Given the description of an element on the screen output the (x, y) to click on. 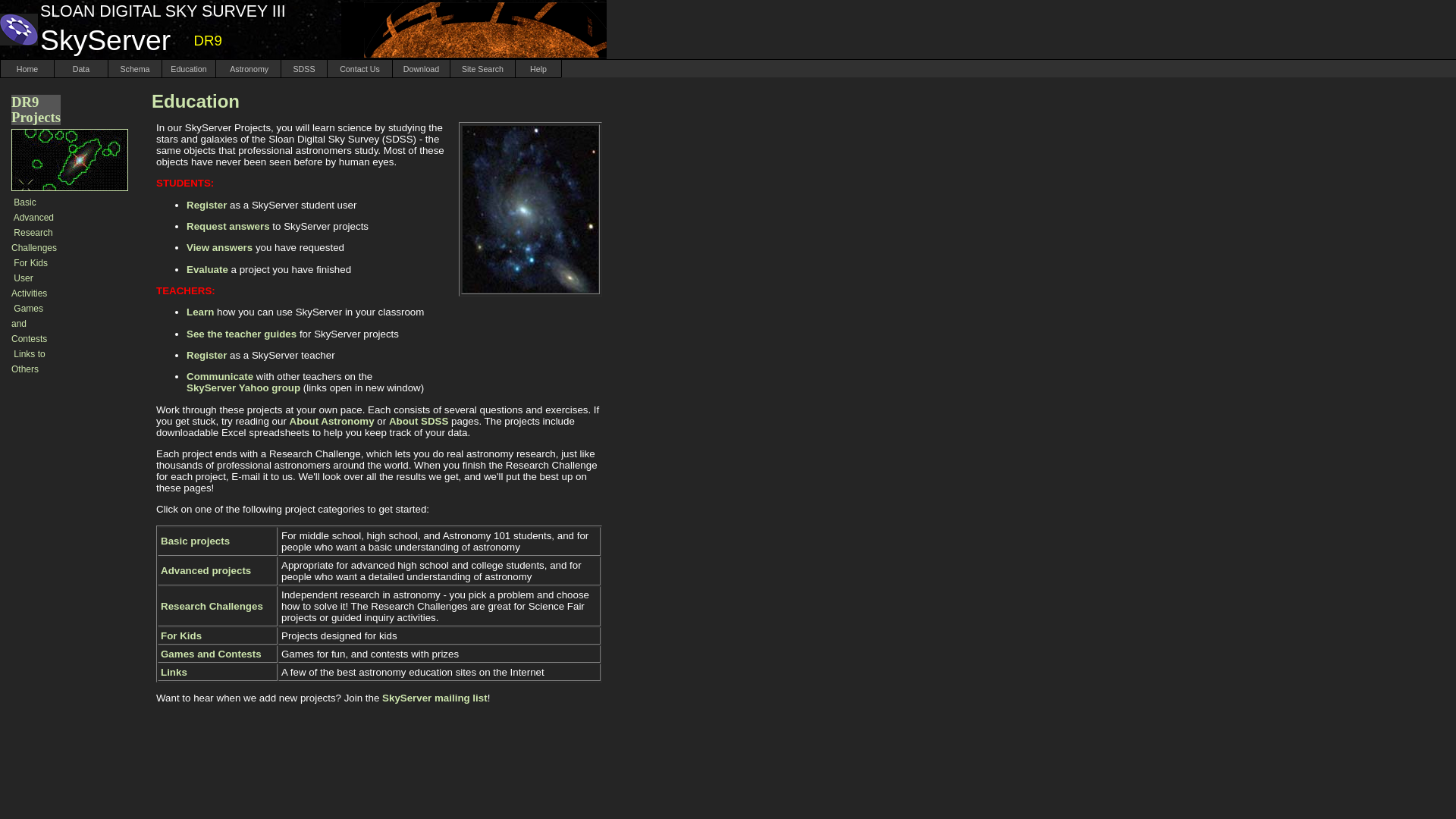
  Help   (538, 67)
 Site Search  (482, 67)
Games and Contests (211, 654)
  Data   (81, 67)
  Education   (188, 67)
  SDSS   (304, 67)
Communicate (219, 376)
Register (206, 204)
Games and Contests (28, 323)
  Download   (421, 67)
  Contact Us   (359, 67)
Learn (200, 311)
Research Challenges (211, 605)
About SDSS (418, 420)
SkyServer mailing list (434, 697)
